Given the description of an element on the screen output the (x, y) to click on. 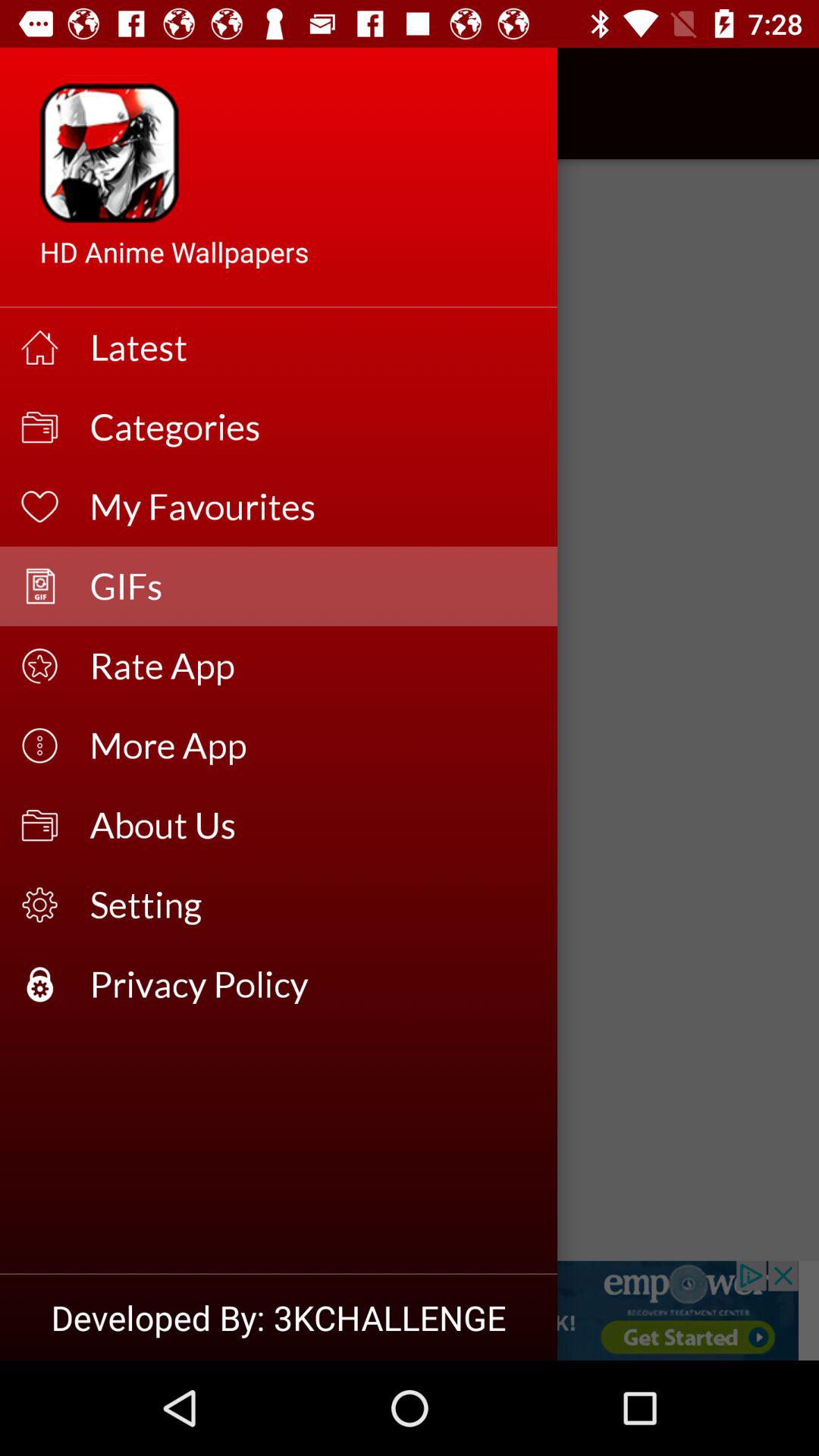
turn on the icon above my favourites (313, 426)
